Given the description of an element on the screen output the (x, y) to click on. 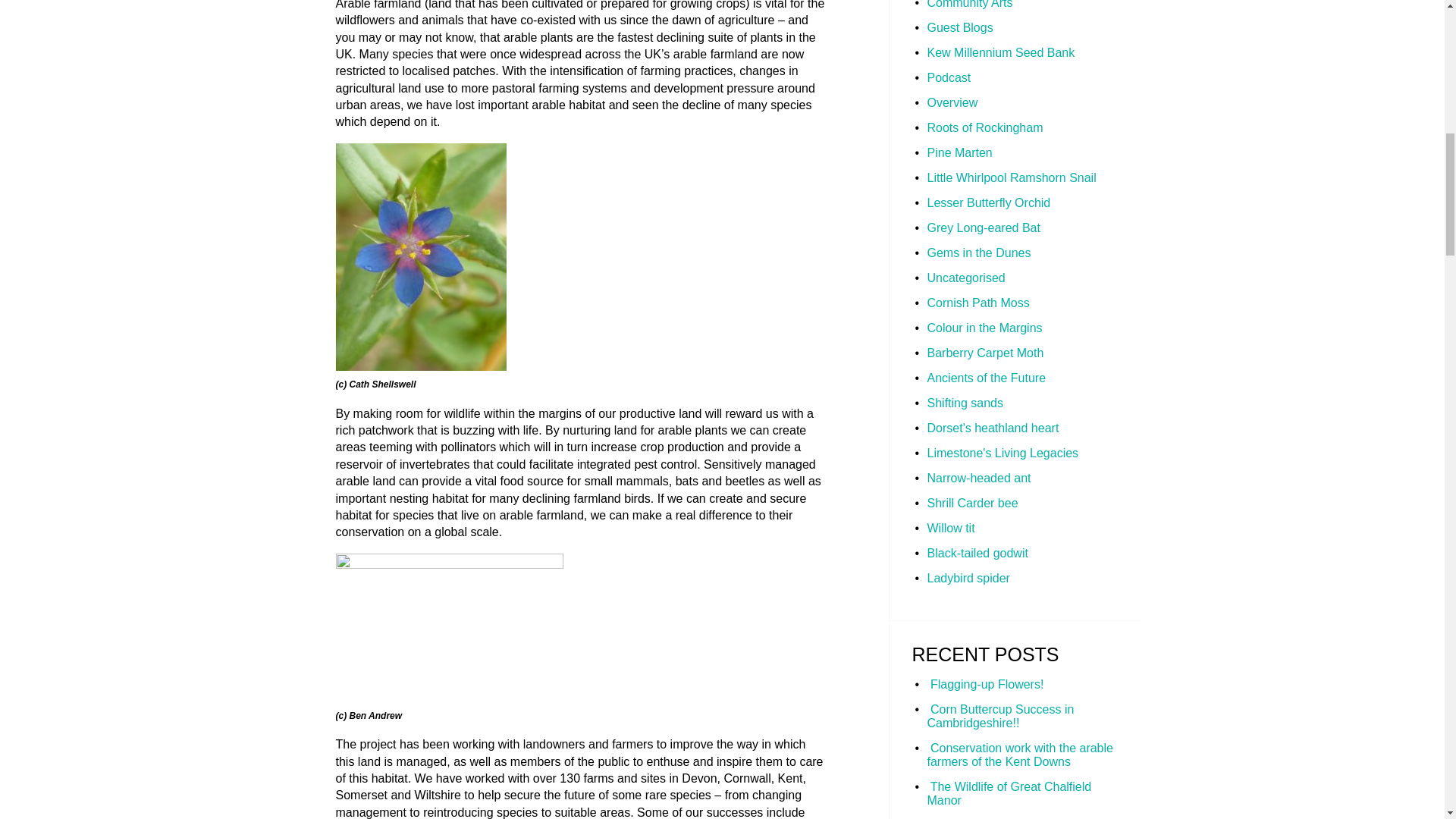
Gems in the Dunes (978, 252)
Kew Millennium Seed Bank (1000, 51)
Lesser Butterfly Orchid (987, 202)
Cornish Path Moss (977, 302)
Guest Blogs (959, 27)
Roots of Rockingham (984, 127)
Dorset's heathland heart (992, 427)
Grey Long-eared Bat (982, 227)
Ancients of the Future (985, 377)
Overview (951, 102)
Barberry Carpet Moth (984, 352)
Podcast (948, 77)
Colour in the Margins (984, 327)
Little Whirlpool Ramshorn Snail (1011, 177)
Narrow-headed ant (978, 477)
